Given the description of an element on the screen output the (x, y) to click on. 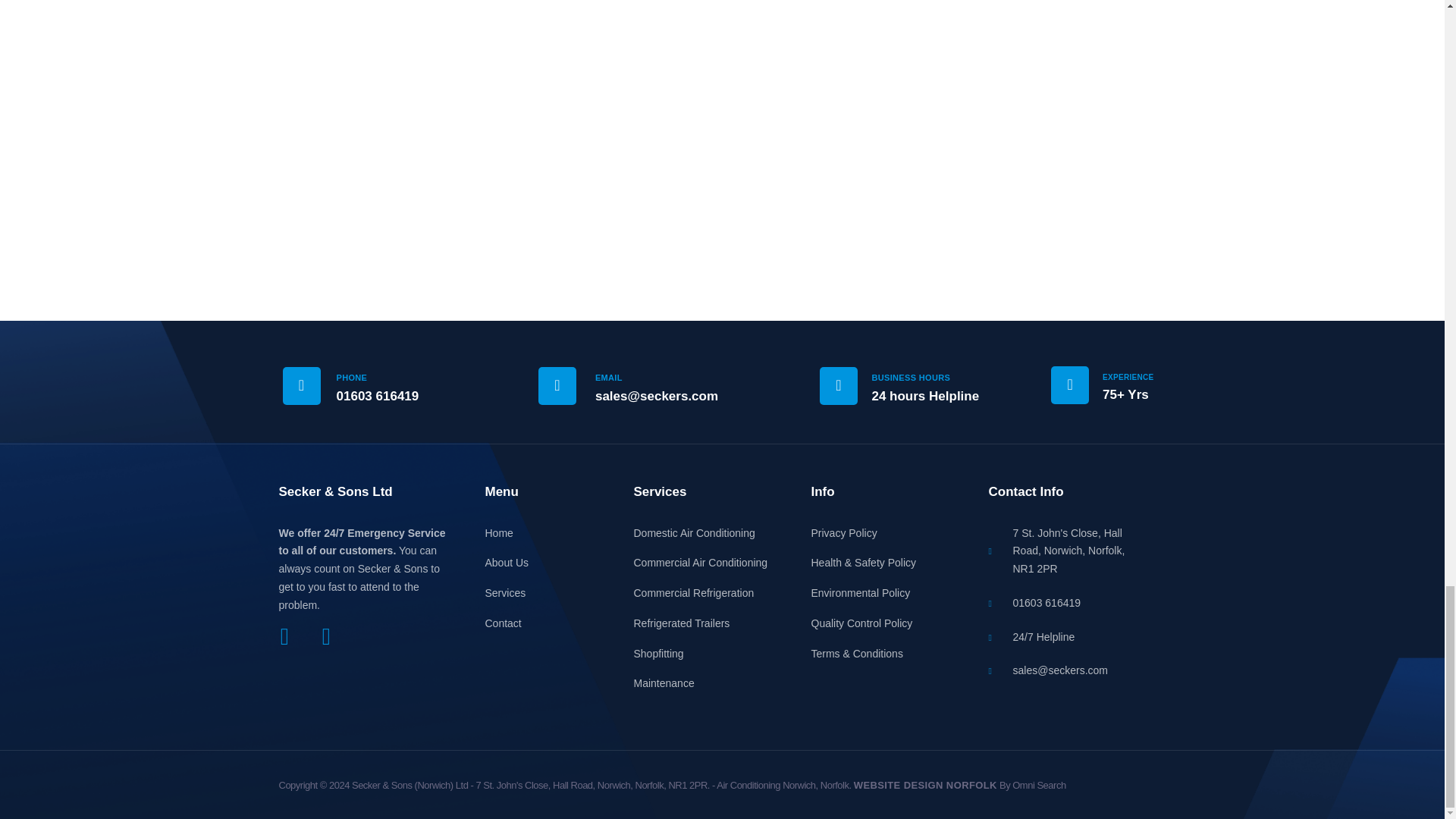
PHONE (352, 377)
